Given the description of an element on the screen output the (x, y) to click on. 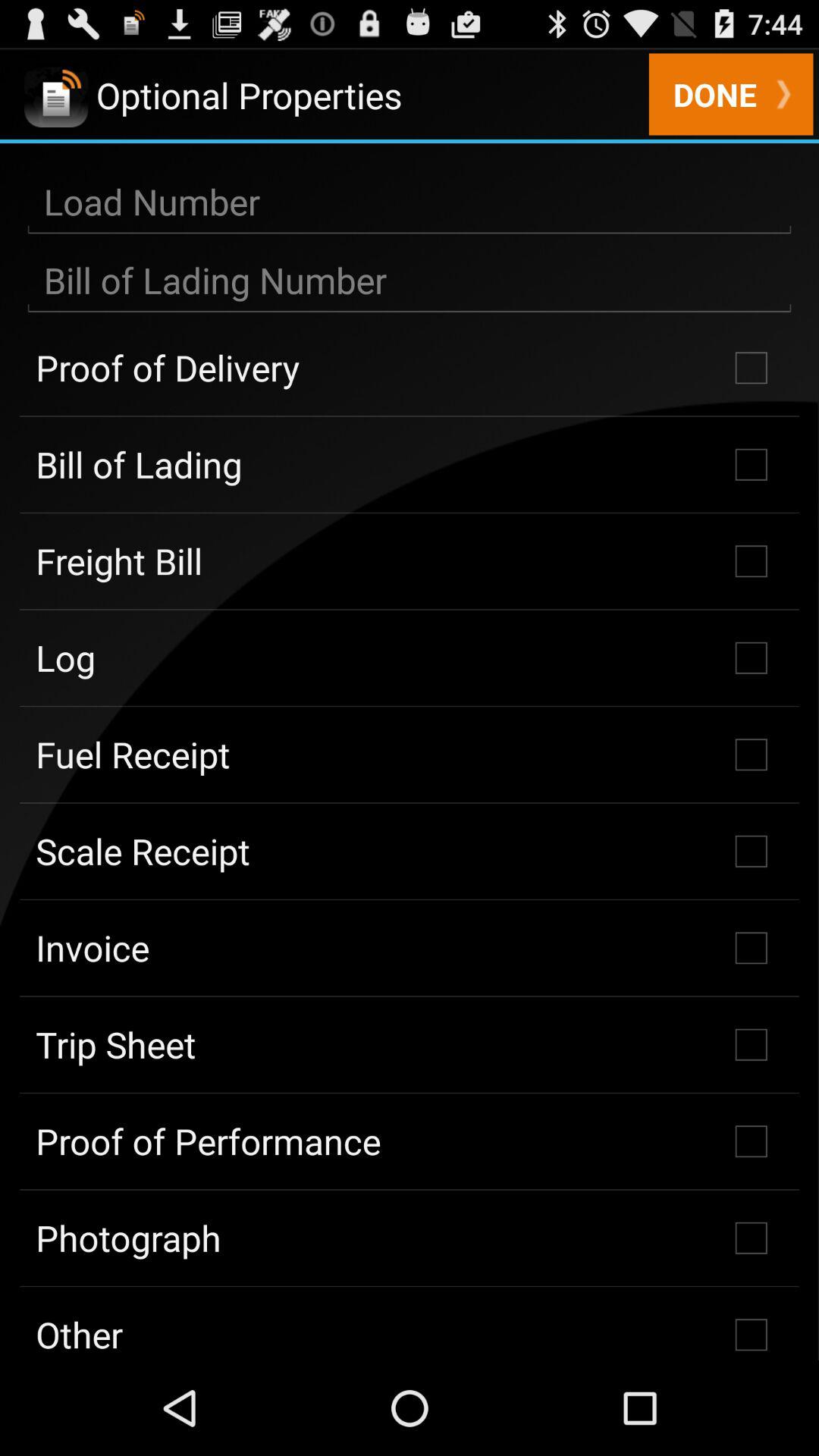
swipe to other checkbox (409, 1323)
